Given the description of an element on the screen output the (x, y) to click on. 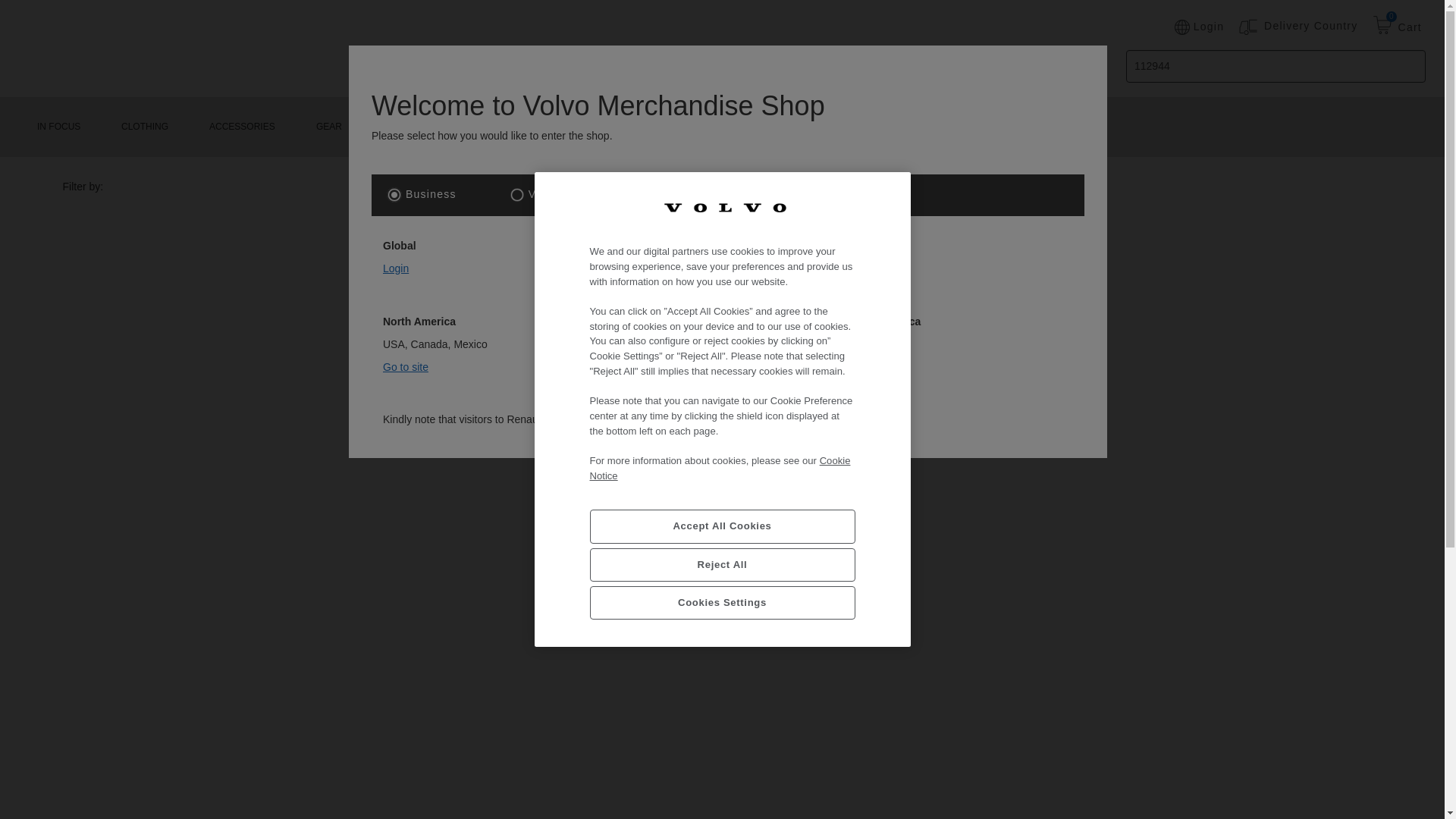
Company Logo (724, 207)
112944 (1275, 65)
www.eshop.renault-trucks.com (804, 419)
Login (395, 268)
1 (394, 194)
112944 (1275, 65)
3 (714, 194)
0 (1381, 26)
Login (1198, 27)
CLOTHING (144, 127)
0 (1382, 26)
Go to site (642, 344)
 Max 100 characters. (1275, 65)
Go to site (881, 344)
Delivery Country (1309, 26)
